Given the description of an element on the screen output the (x, y) to click on. 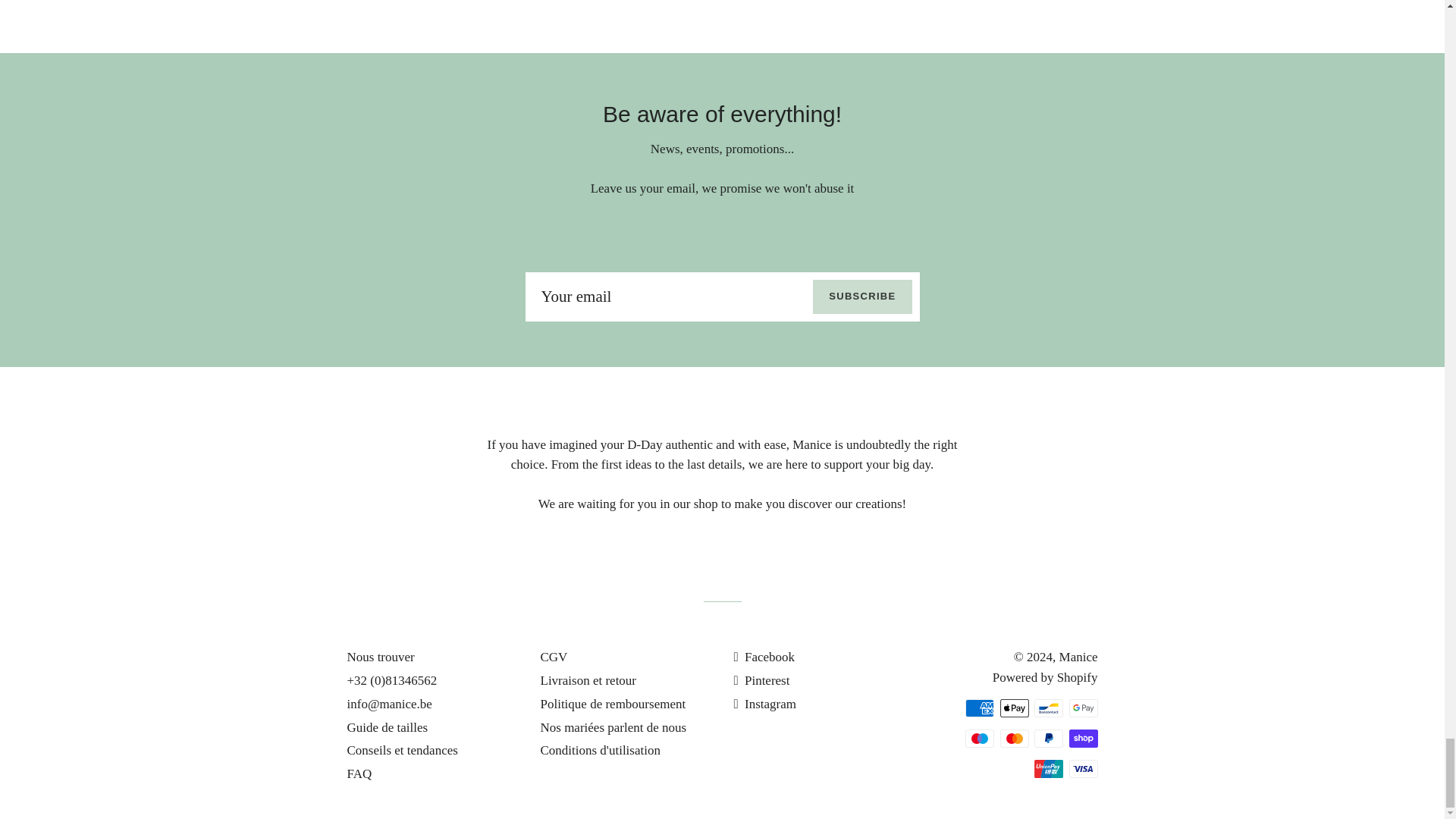
Mastercard (1012, 738)
Maestro (979, 738)
PayPal (1047, 738)
Bancontact (1047, 708)
Union Pay (1047, 769)
Manice on Instagram (764, 703)
Manice on Pinterest (761, 680)
Google Pay (1082, 708)
Shop Pay (1082, 738)
American Express (979, 708)
